Given the description of an element on the screen output the (x, y) to click on. 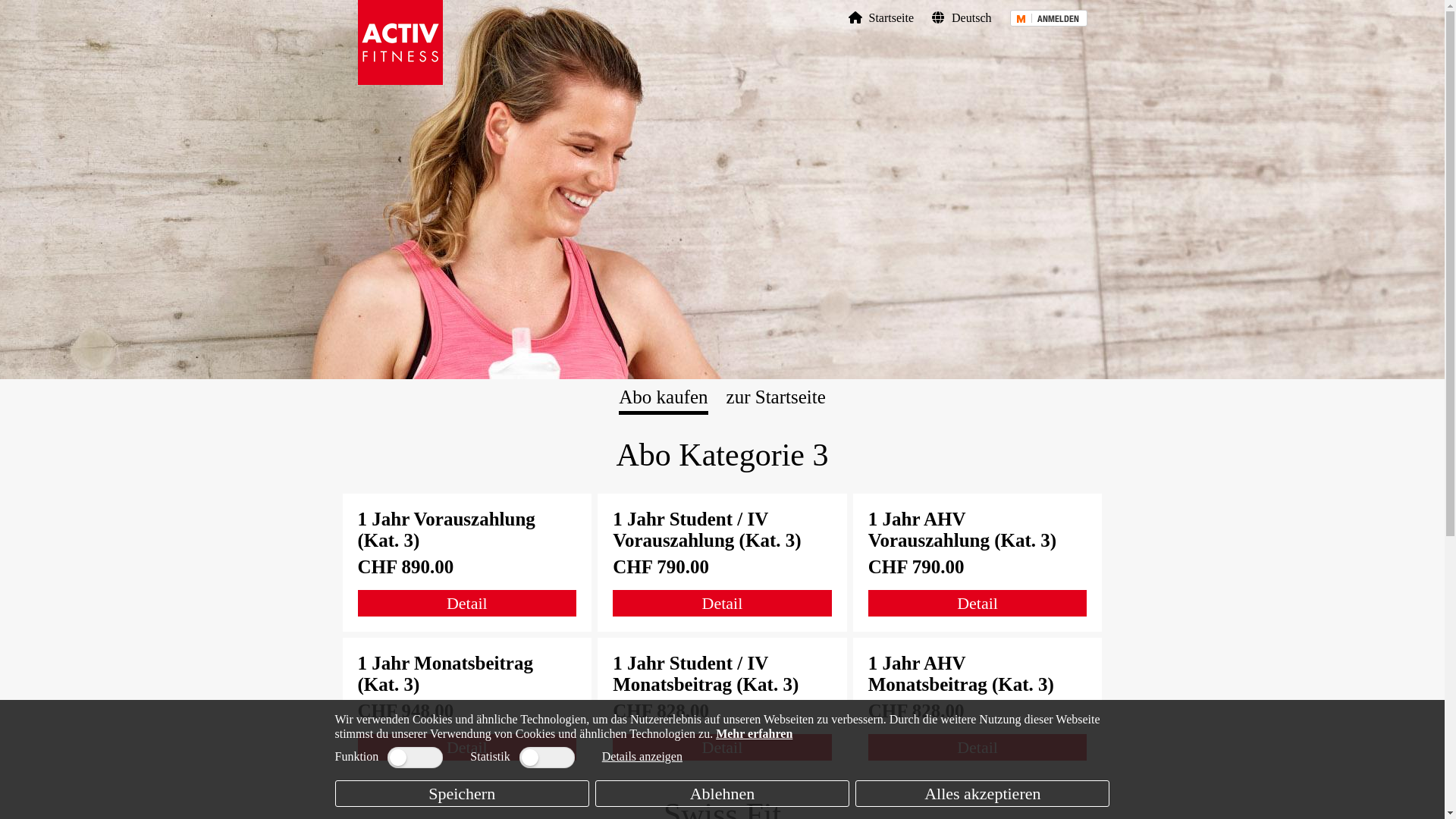
1 Jahr AHV Monatsbeitrag (Kat. 3)
CHF 828.00
Detail Element type: text (977, 706)
Abo kaufen Element type: text (662, 396)
zur Startseite Element type: text (775, 396)
Details anzeigen Element type: text (642, 755)
1 Jahr Monatsbeitrag (Kat. 3)
CHF 948.00
Detail Element type: text (467, 706)
ANMELDEN Element type: text (1048, 17)
1 Jahr AHV Vorauszahlung (Kat. 3)
CHF 790.00
Detail Element type: text (977, 562)
1 Jahr Student / IV Vorauszahlung (Kat. 3)
CHF 790.00
Detail Element type: text (722, 562)
Startseite Element type: text (881, 17)
1 Jahr Vorauszahlung (Kat. 3)
CHF 890.00
Detail Element type: text (467, 562)
1 Jahr Student / IV Monatsbeitrag (Kat. 3)
CHF 828.00
Detail Element type: text (722, 706)
Mehr erfahren Element type: text (753, 733)
